Given the description of an element on the screen output the (x, y) to click on. 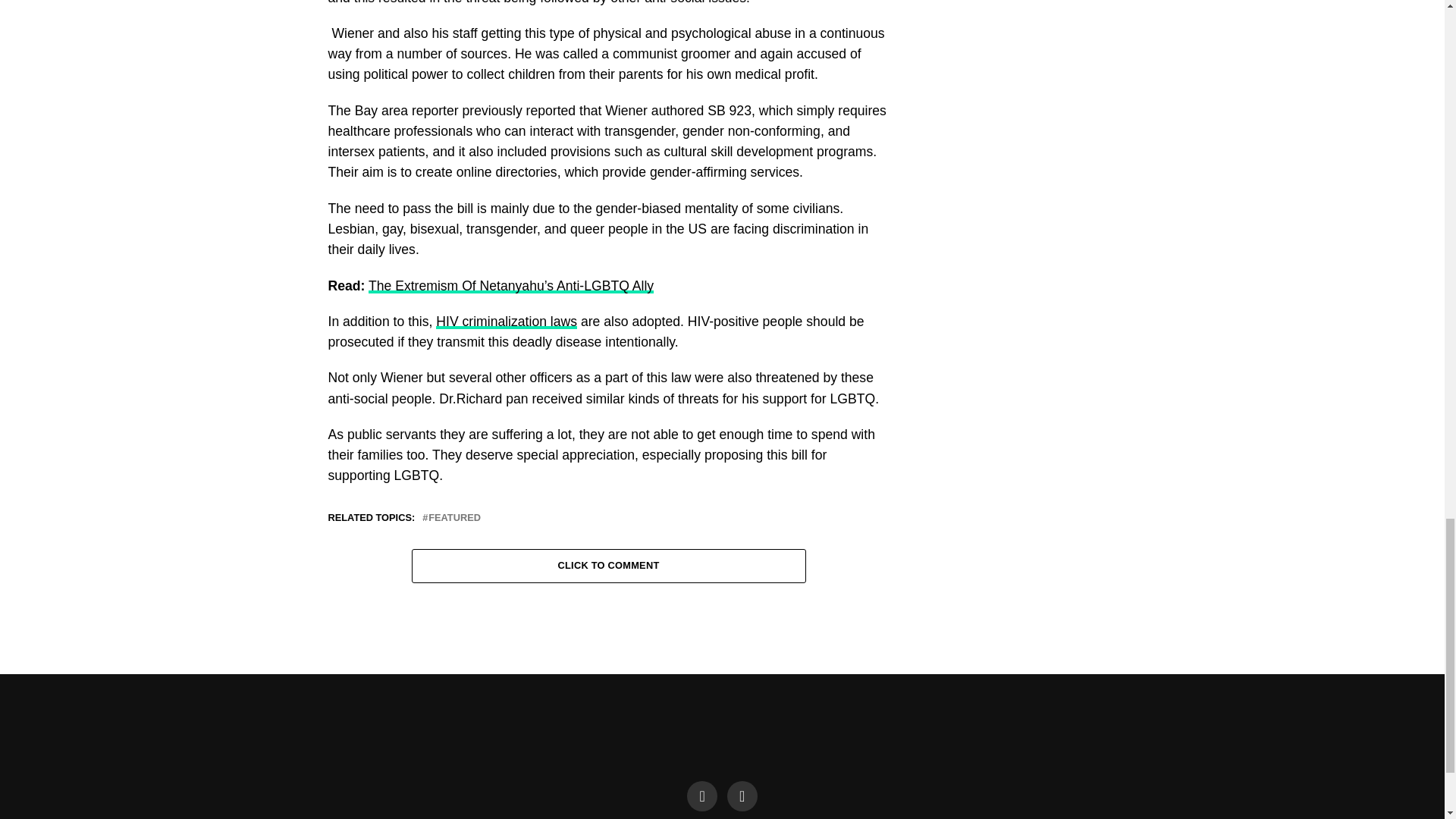
HIV criminalization laws (505, 321)
FEATURED (454, 518)
